Given the description of an element on the screen output the (x, y) to click on. 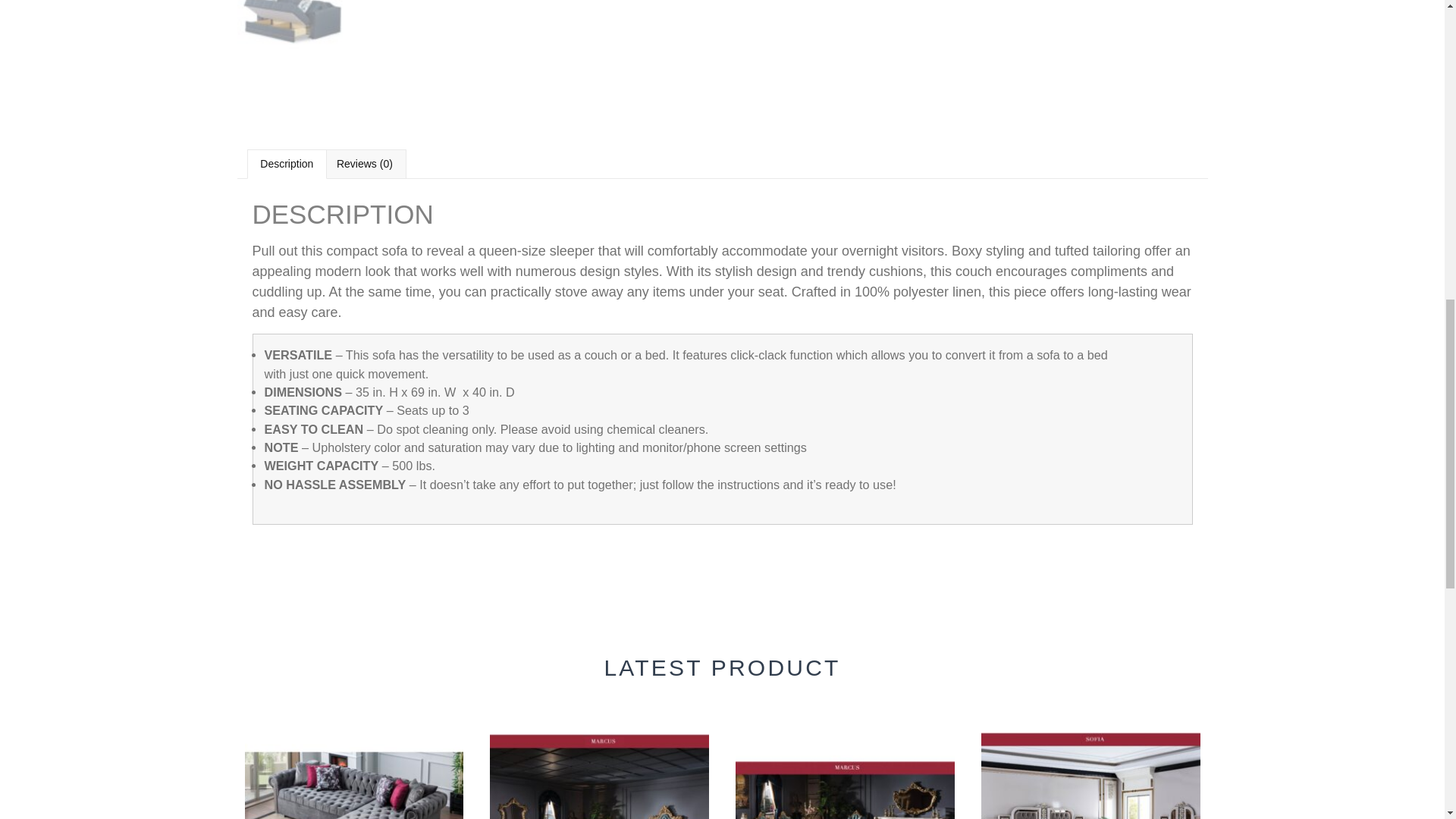
MARCUS DINING (845, 764)
PORTO GRAY (353, 764)
MARCUS BEDROOM (599, 764)
Description (286, 163)
